Given the description of an element on the screen output the (x, y) to click on. 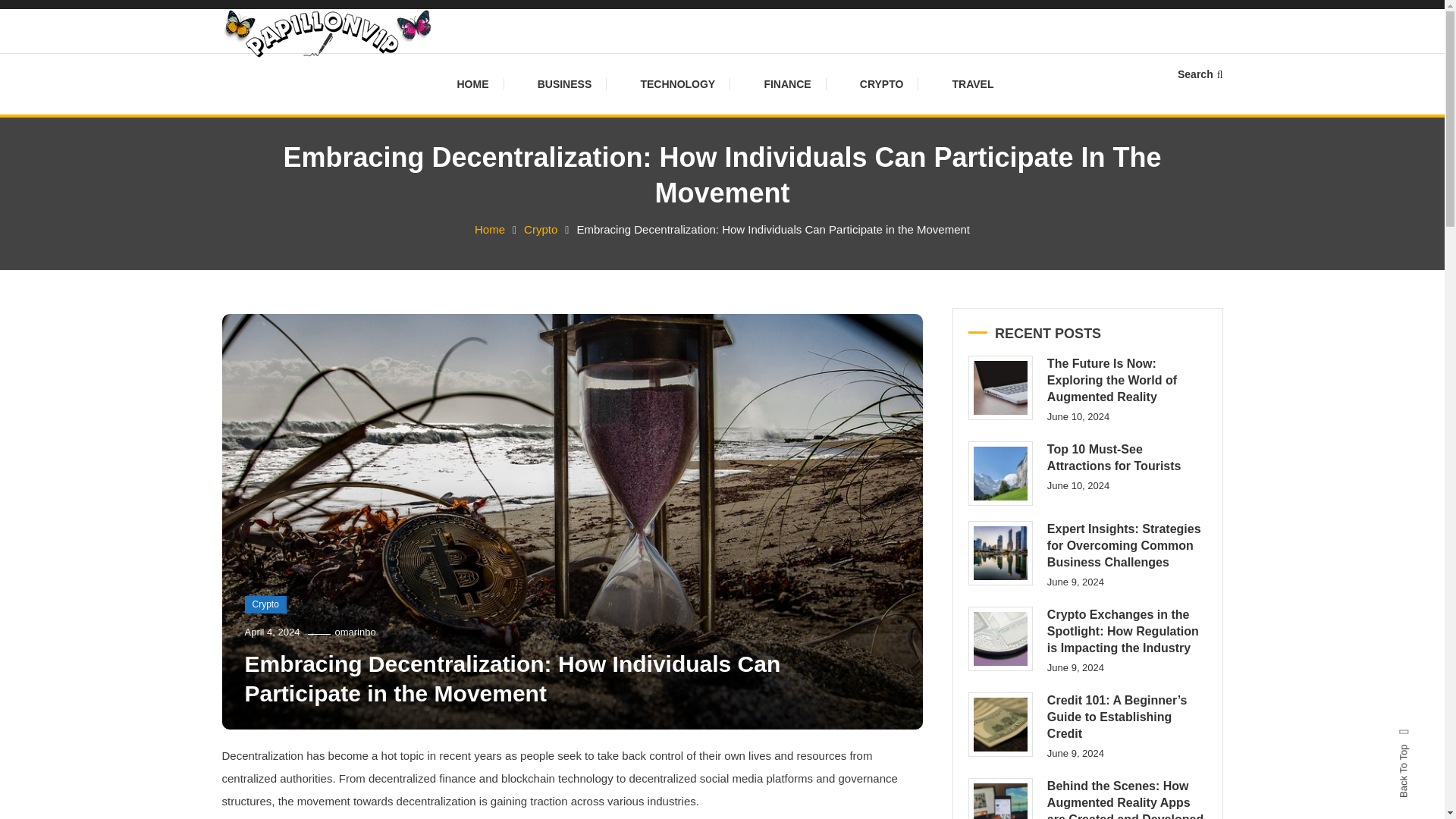
Home (489, 228)
TECHNOLOGY (677, 84)
FINANCE (786, 84)
BUSINESS (564, 84)
The Future Is Now: Exploring the World of Augmented Reality (1000, 387)
Crypto (264, 605)
HOME (480, 84)
